Given the description of an element on the screen output the (x, y) to click on. 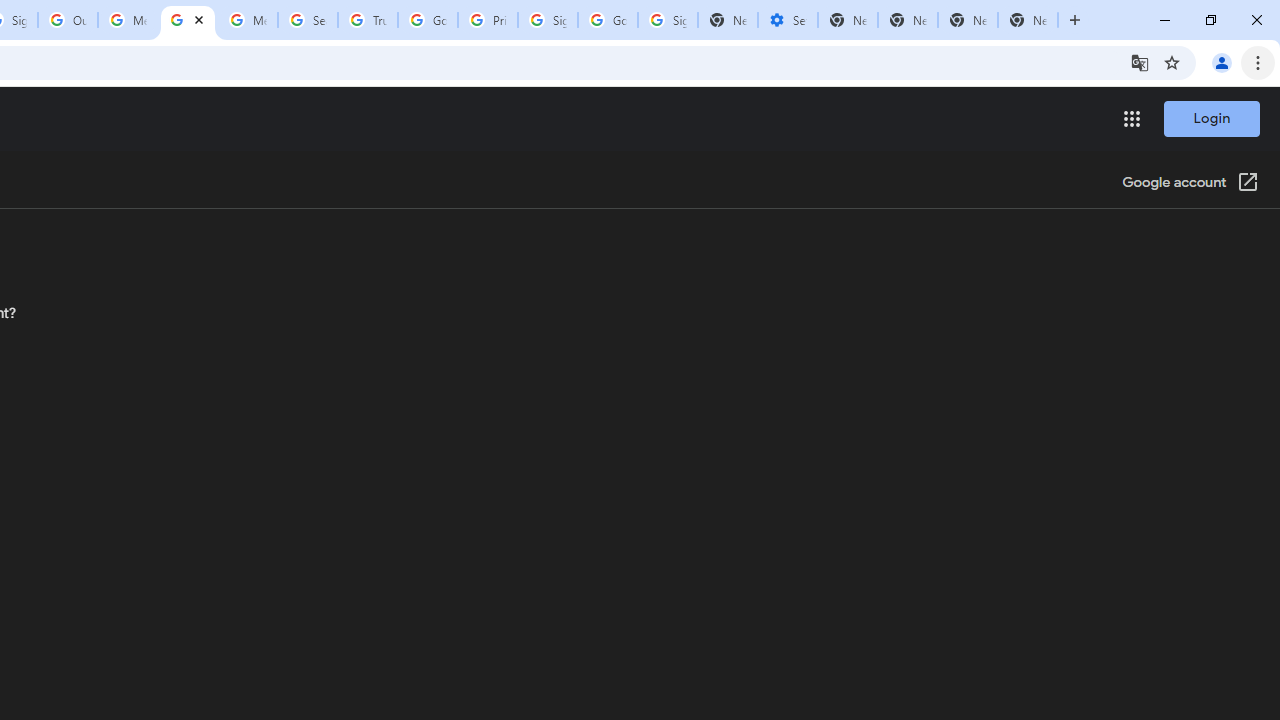
Login (1211, 118)
Google Cybersecurity Innovations - Google Safety Center (607, 20)
Get your account verified - Google Account Help (187, 20)
Sign in - Google Accounts (667, 20)
Google Account (Opens in new window) (1190, 183)
